Given the description of an element on the screen output the (x, y) to click on. 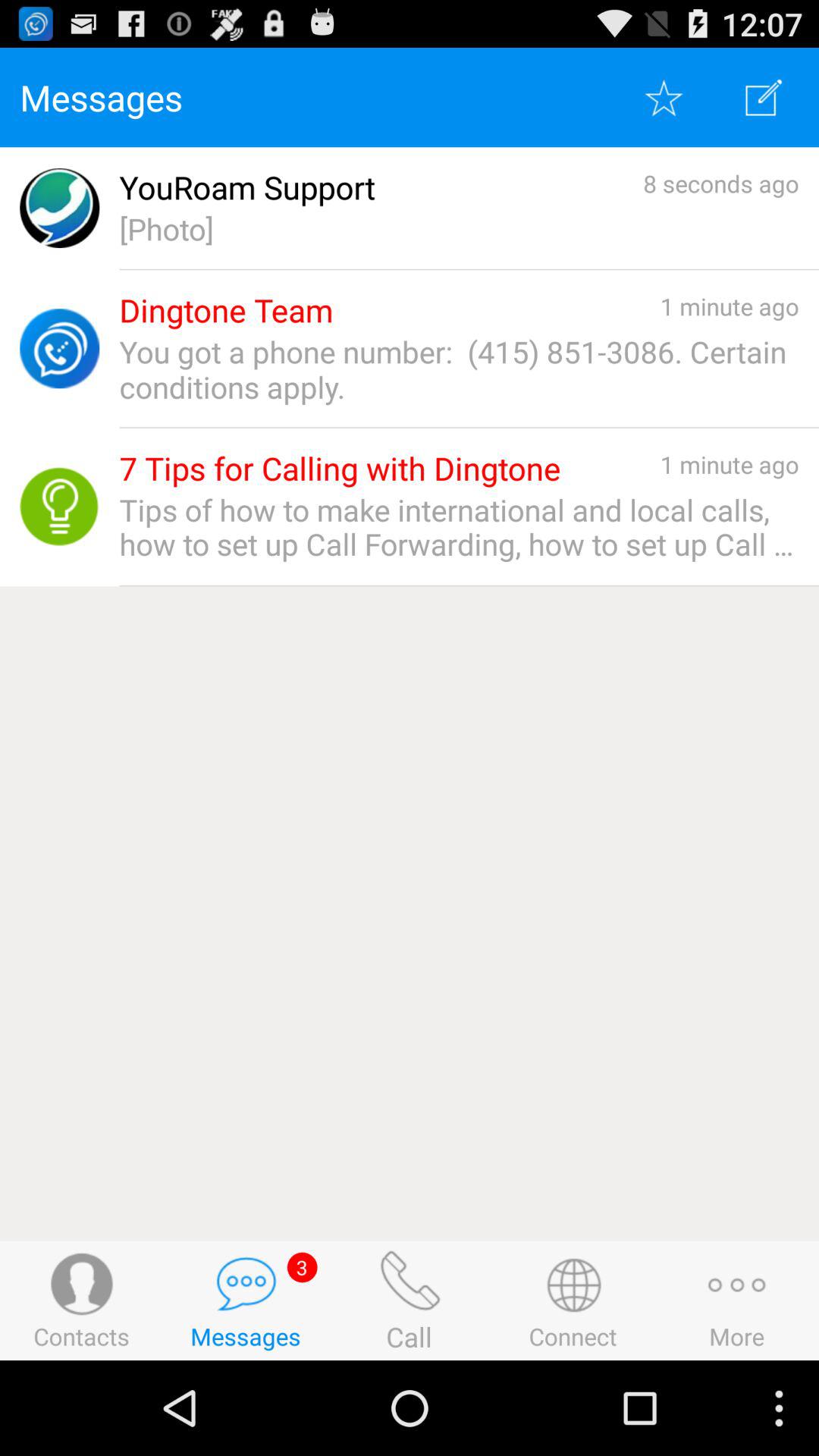
tap the tips of how icon (459, 527)
